Given the description of an element on the screen output the (x, y) to click on. 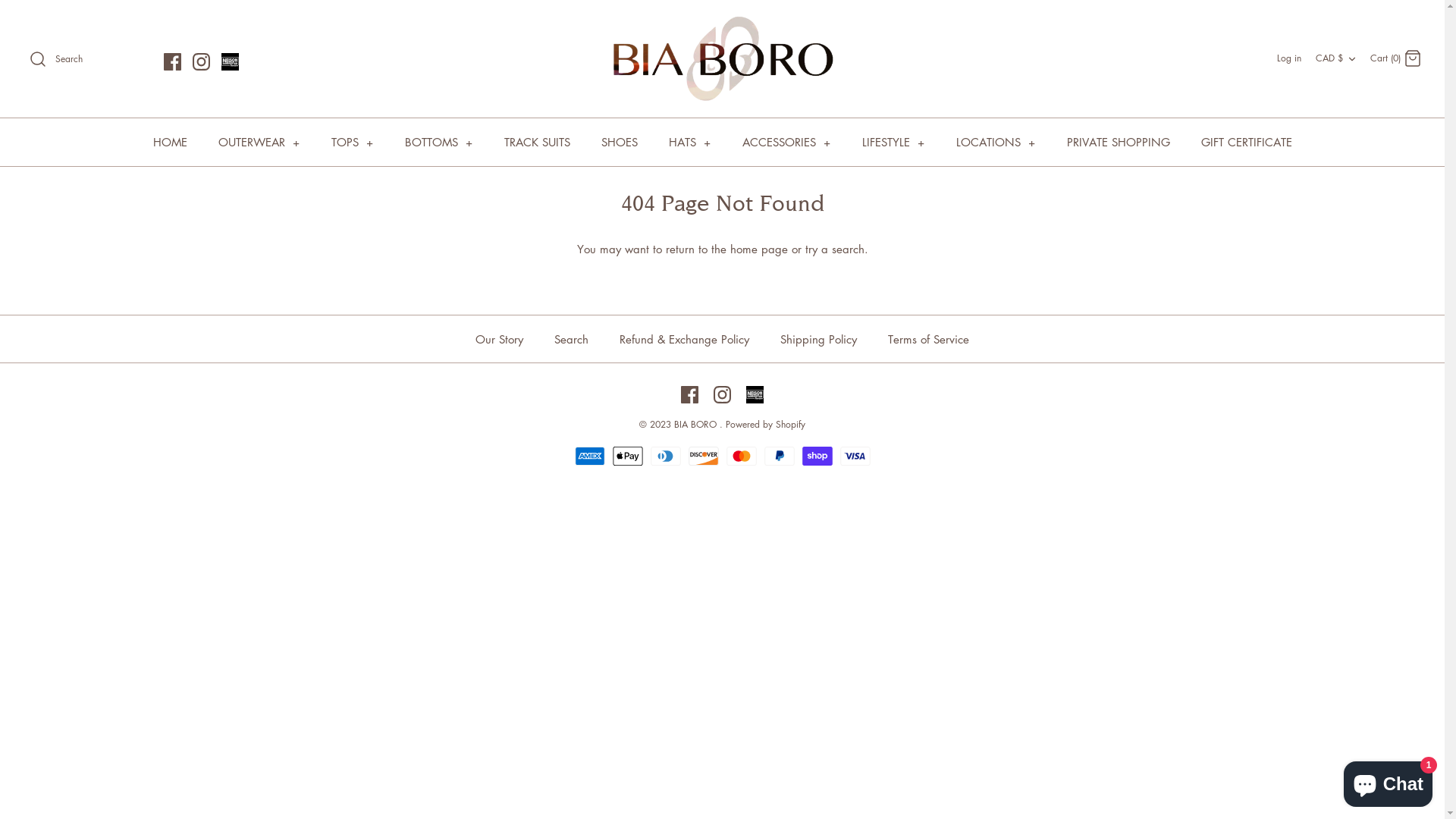
HOME Element type: text (169, 142)
Instagram Element type: text (722, 394)
Facebook Element type: text (689, 394)
Instagram Element type: text (201, 61)
PRIVATE SHOPPING Element type: text (1117, 142)
Shipping Policy Element type: text (818, 339)
CAD $
Down Element type: text (1337, 58)
BIA BORO Element type: text (696, 423)
HATS + Element type: text (689, 142)
LIFESTYLE + Element type: text (892, 142)
Terms of Service Element type: text (928, 339)
SHOES Element type: text (618, 142)
Cart (0) Cart Element type: text (1395, 56)
BIA BORO  Element type: hover (721, 58)
OUTERWEAR + Element type: text (258, 142)
try a search Element type: text (834, 248)
BOTTOMS + Element type: text (438, 142)
Shopify online store chat Element type: hover (1388, 780)
TOPS + Element type: text (351, 142)
Our Story Element type: text (498, 339)
Log in Element type: text (1289, 57)
ACCESSORIES + Element type: text (786, 142)
home page Element type: text (758, 248)
Refund & Exchange Policy Element type: text (683, 339)
Powered by Shopify Element type: text (765, 423)
Search Element type: text (571, 339)
TRACK SUITS Element type: text (536, 142)
Facebook Element type: text (172, 61)
GIFT CERTIFICATE Element type: text (1246, 142)
LOCATIONS + Element type: text (994, 142)
